Given the description of an element on the screen output the (x, y) to click on. 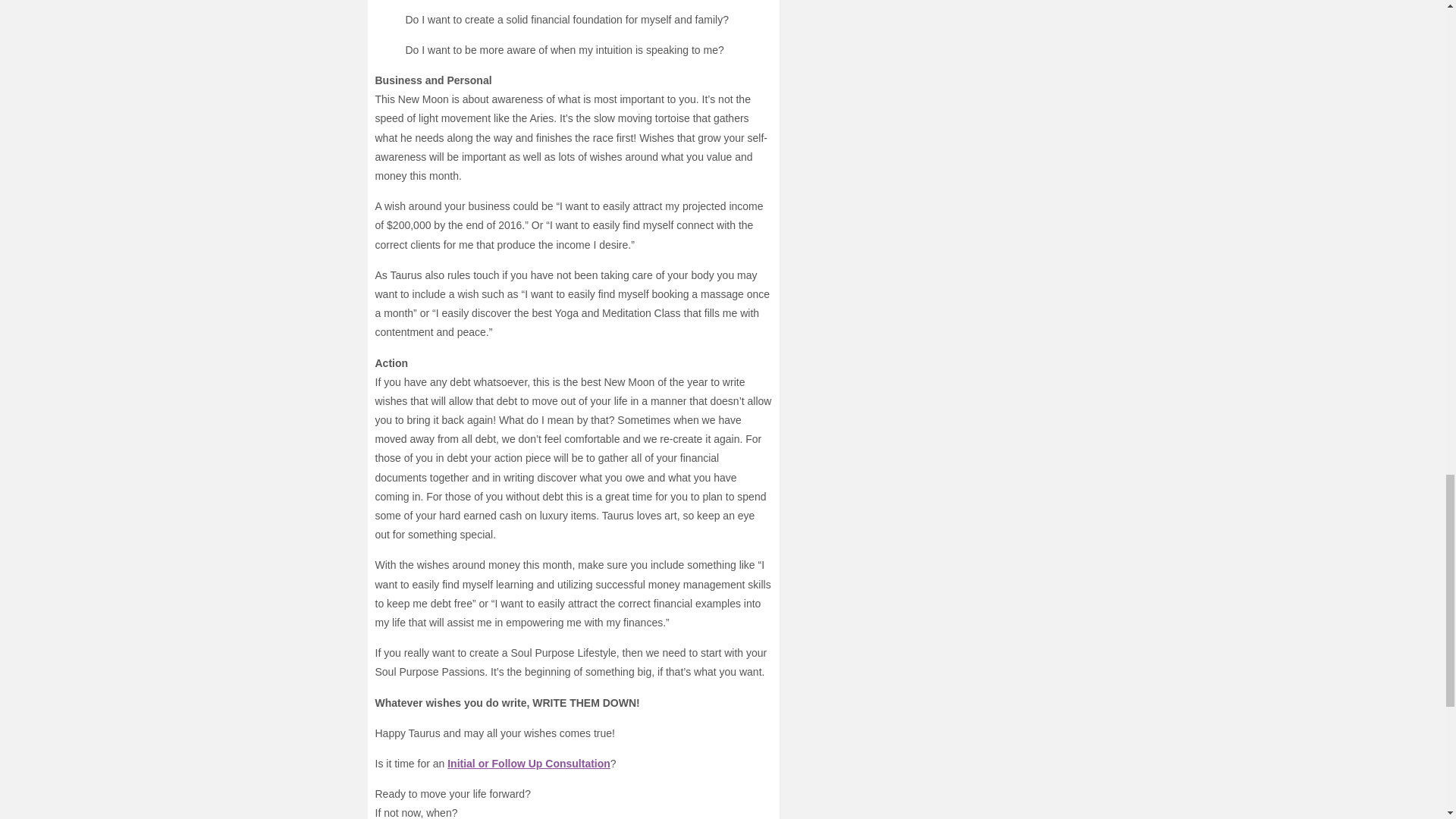
Initial or Follow Up Consultation (528, 763)
